Given the description of an element on the screen output the (x, y) to click on. 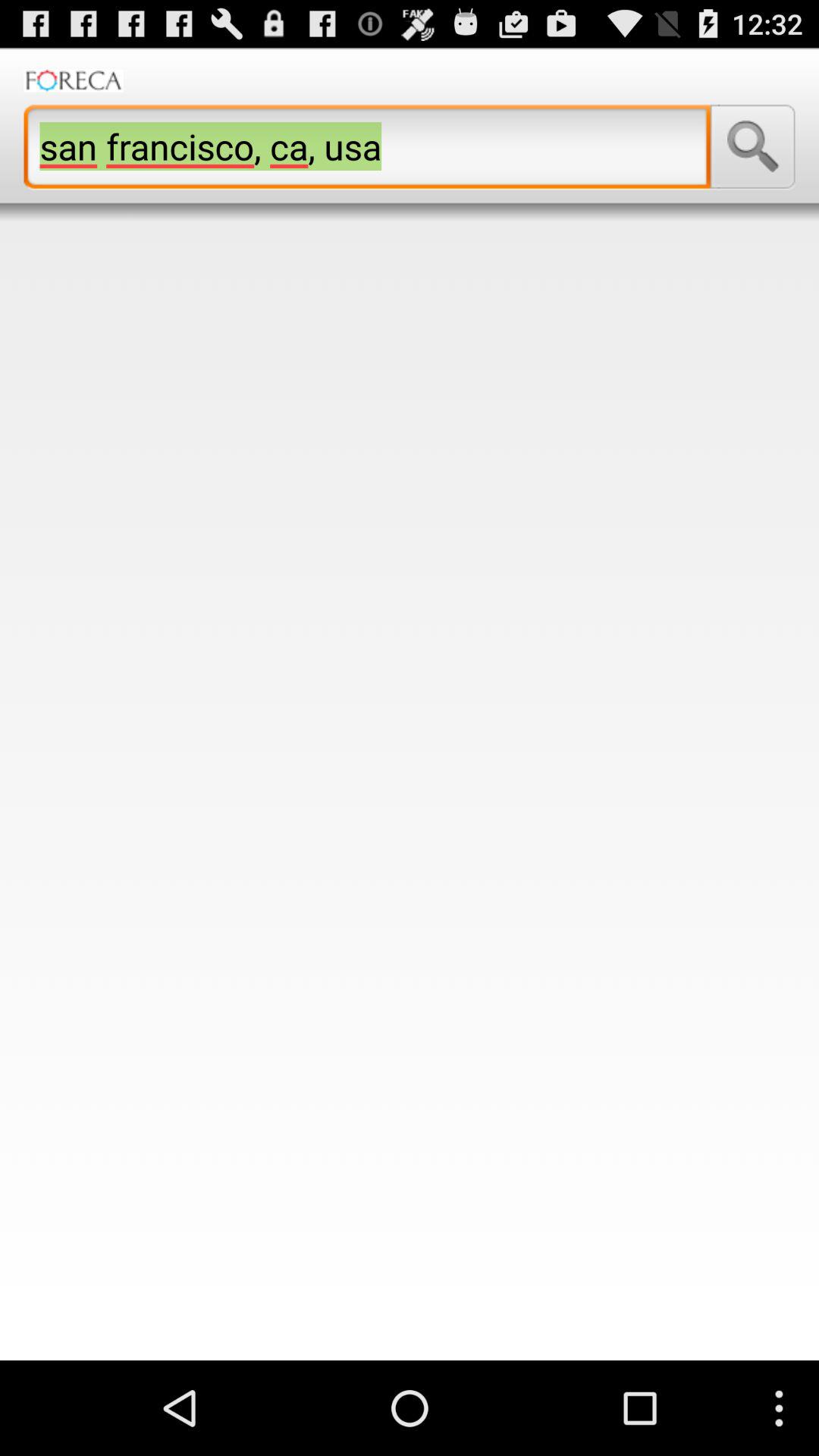
search (752, 146)
